Given the description of an element on the screen output the (x, y) to click on. 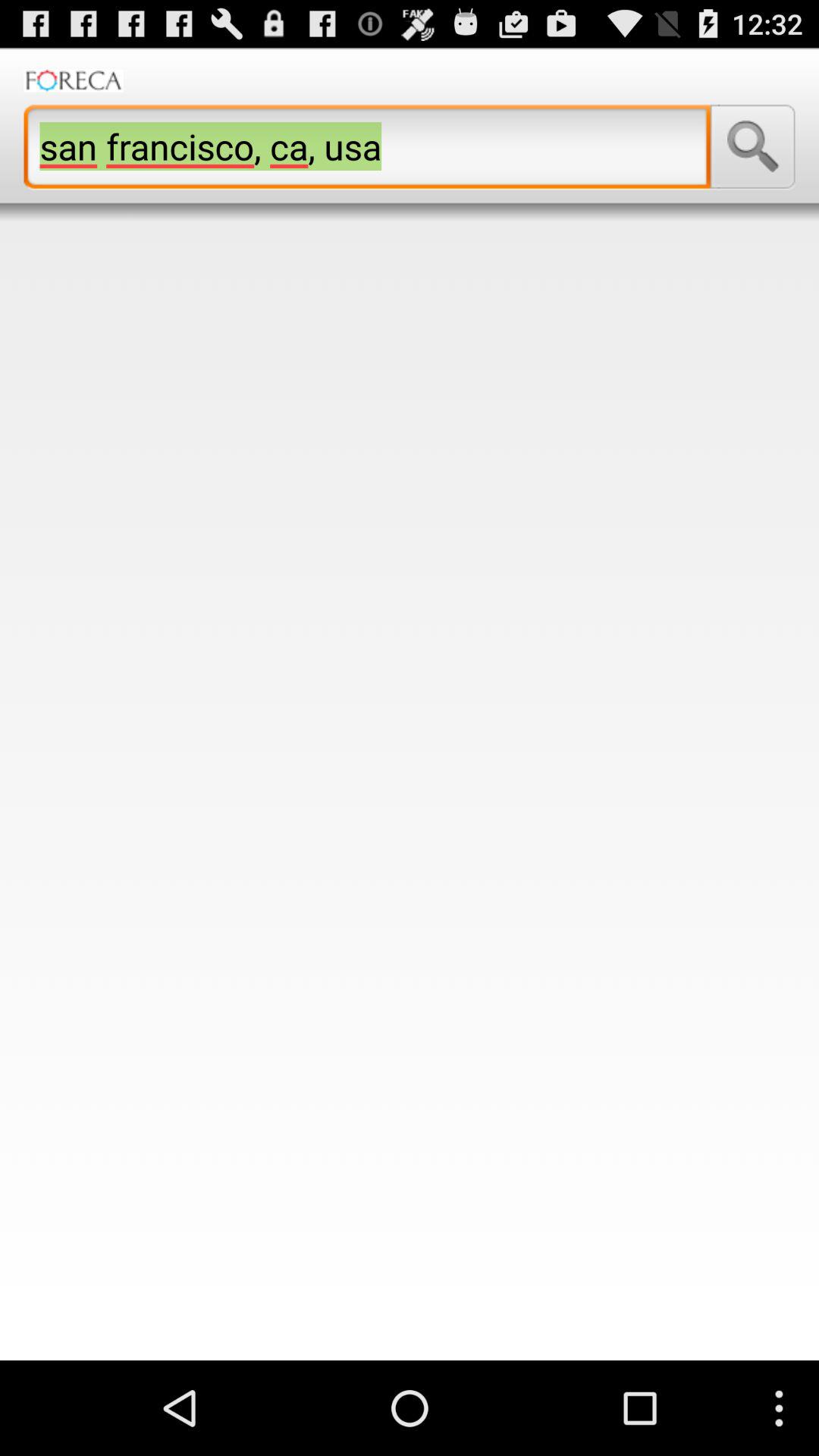
search (752, 146)
